Given the description of an element on the screen output the (x, y) to click on. 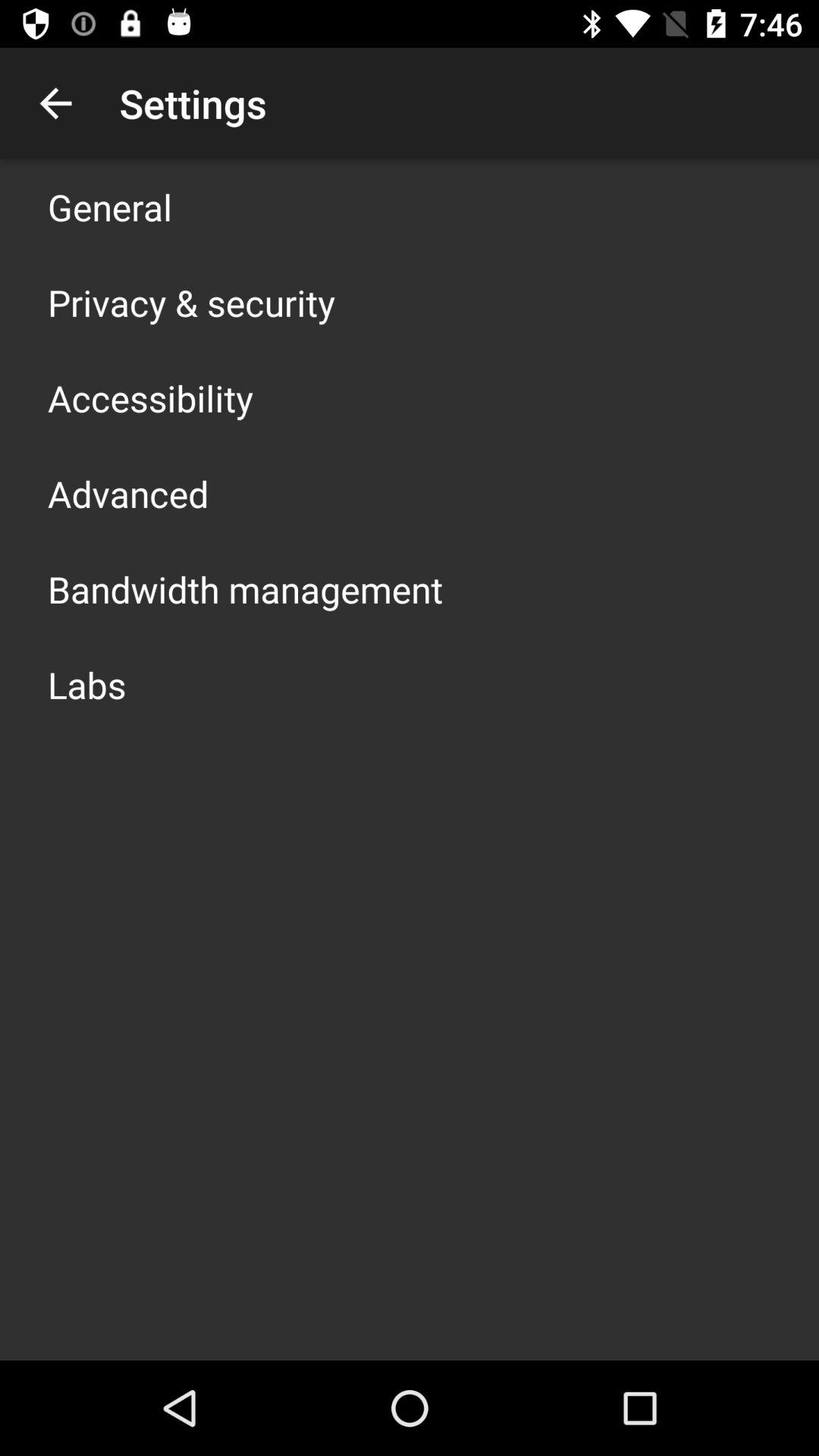
choose app above privacy & security icon (109, 206)
